Given the description of an element on the screen output the (x, y) to click on. 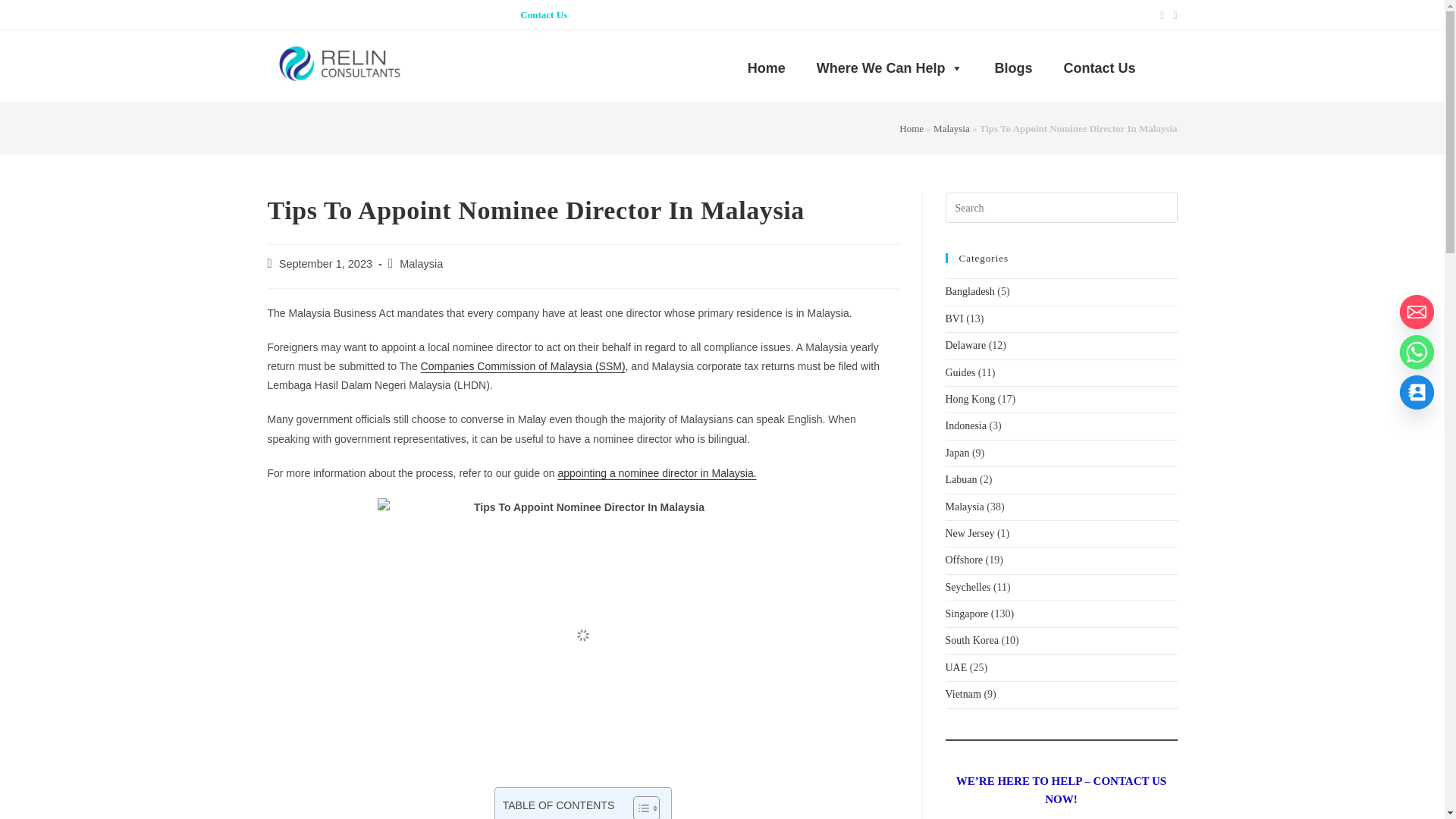
Contact Us (543, 14)
Blogs (1013, 67)
Where We Can Help (890, 67)
Home (766, 67)
